Given the description of an element on the screen output the (x, y) to click on. 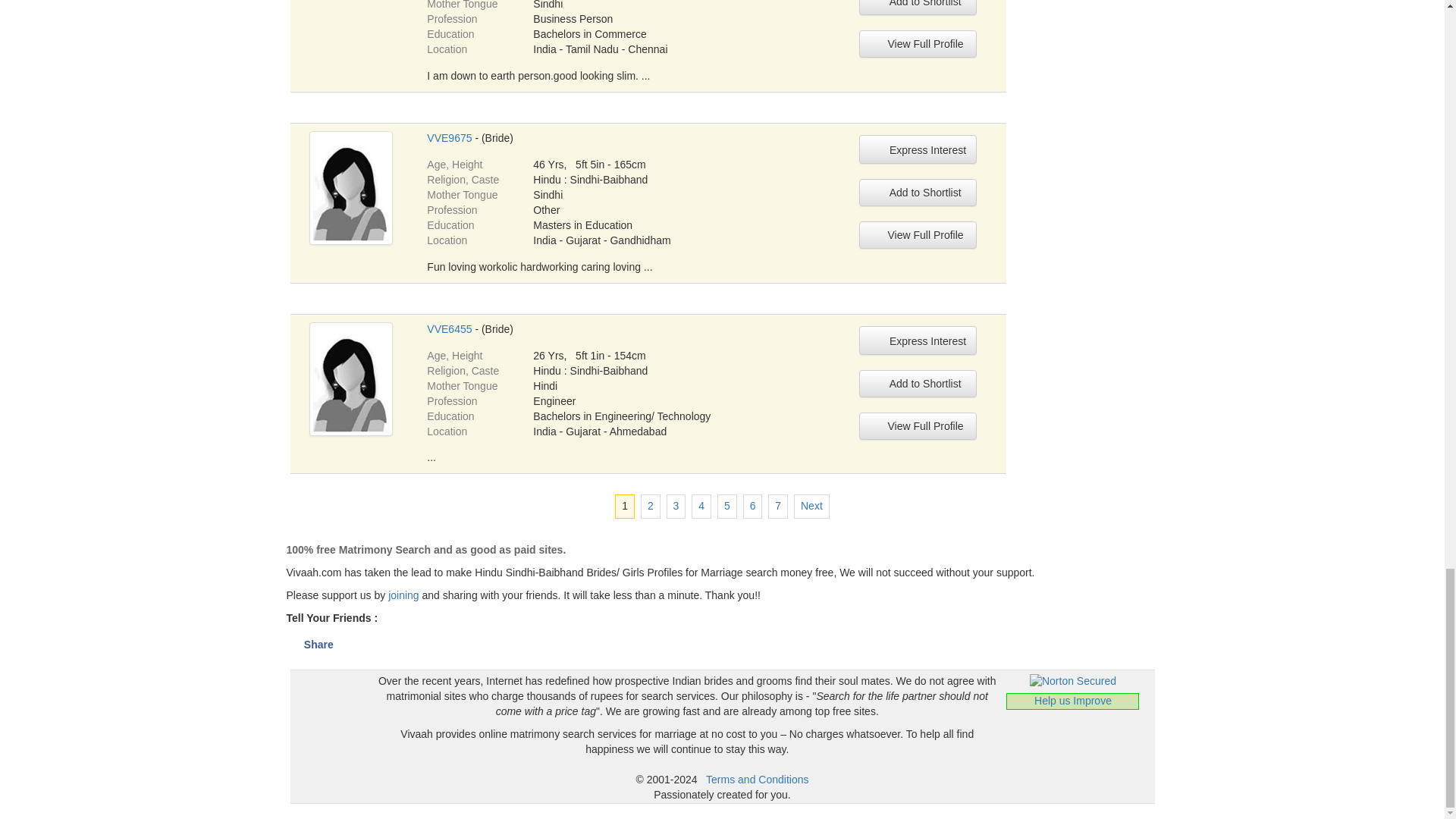
Go to page 4 (701, 506)
Norton Secured (1072, 681)
Go to page 5 (726, 506)
Go to page 2 (650, 506)
Go to page 3 (675, 506)
Go to page 7 (777, 506)
Go to page 6 (752, 506)
